Given the description of an element on the screen output the (x, y) to click on. 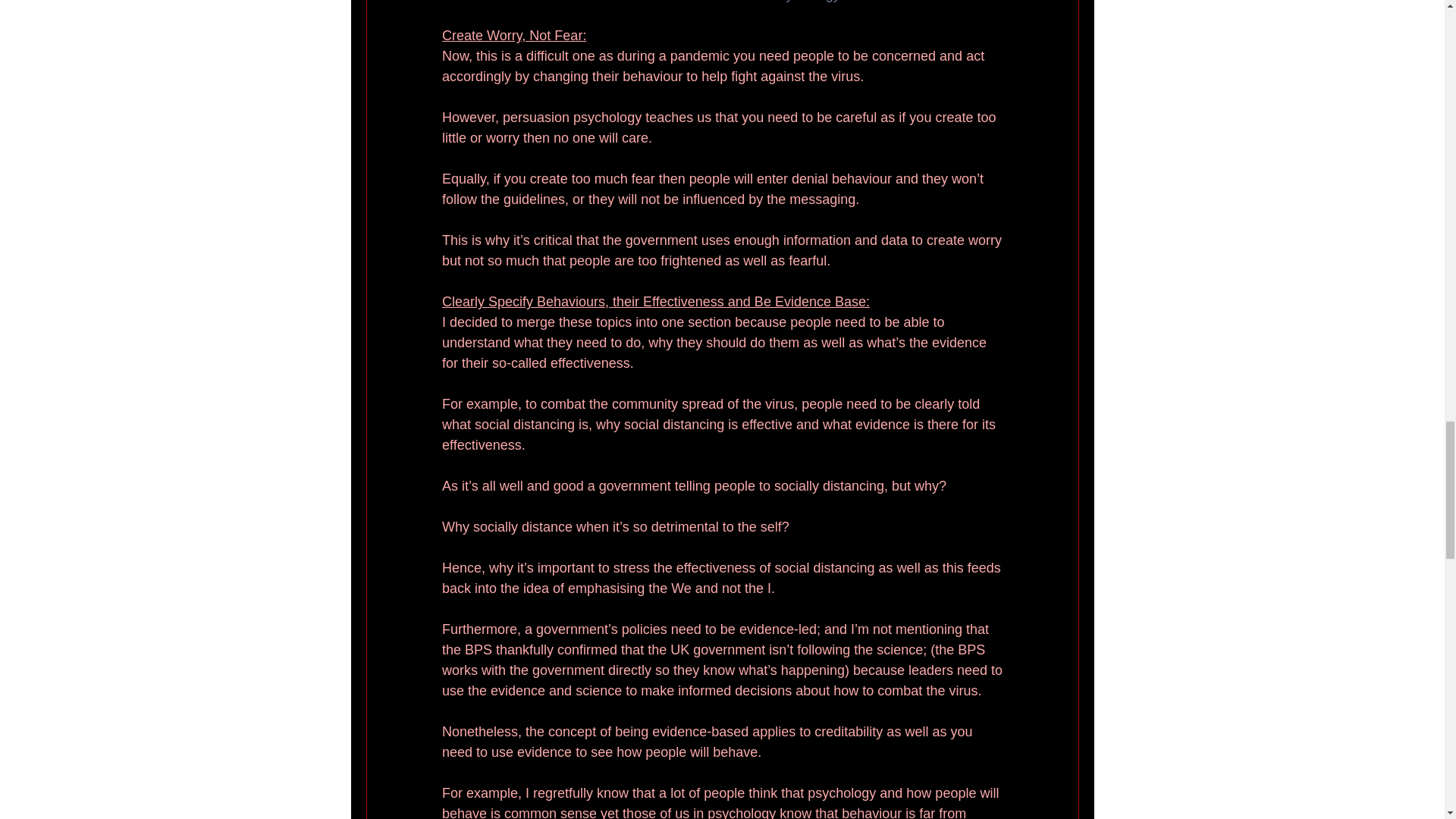
Sociocultural Psychology 2nd Edition. (801, 1)
